Given the description of an element on the screen output the (x, y) to click on. 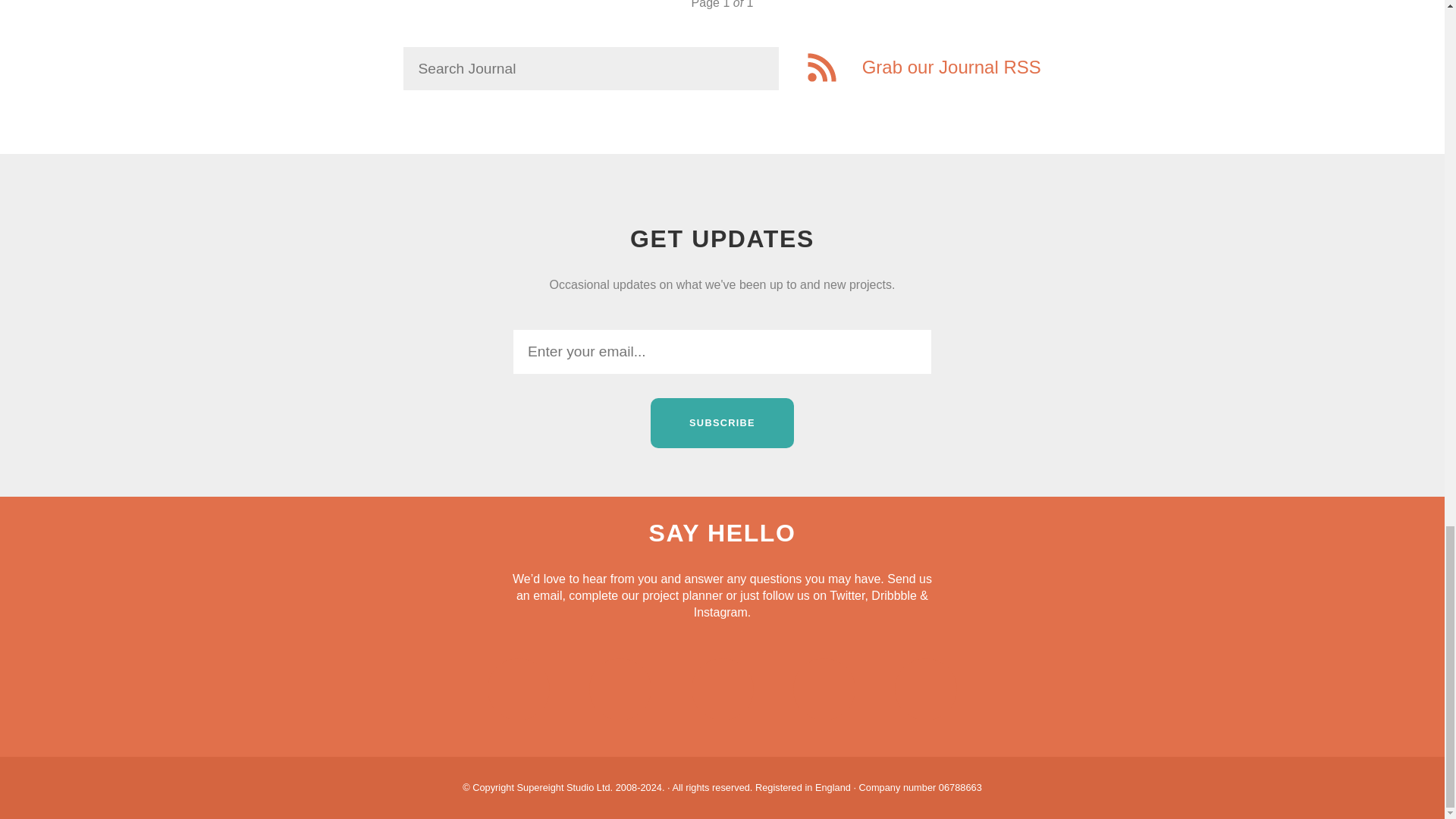
SUBSCRIBE (721, 422)
Follow us on Dribbble (824, 689)
Follow us on Instagram (925, 689)
Follow us on Twitter (722, 689)
Grab our Journal RSS (924, 67)
Complete our Project Planner (619, 689)
